Given the description of an element on the screen output the (x, y) to click on. 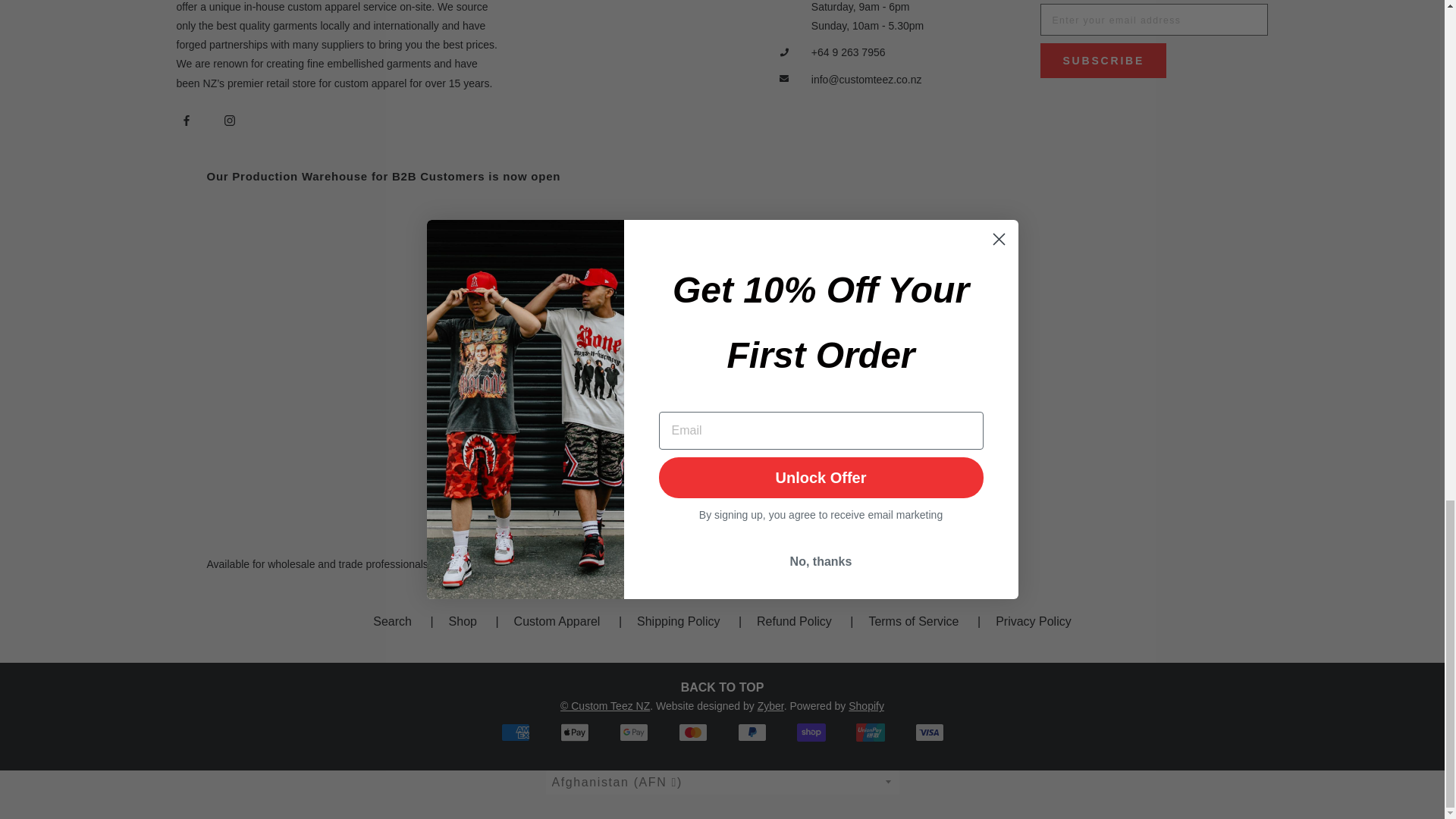
PayPal (750, 732)
Shop Pay (810, 732)
American Express (514, 732)
Visa (928, 732)
Google Pay (632, 732)
Apple Pay (573, 732)
Union Pay (869, 732)
Mastercard (692, 732)
